Given the description of an element on the screen output the (x, y) to click on. 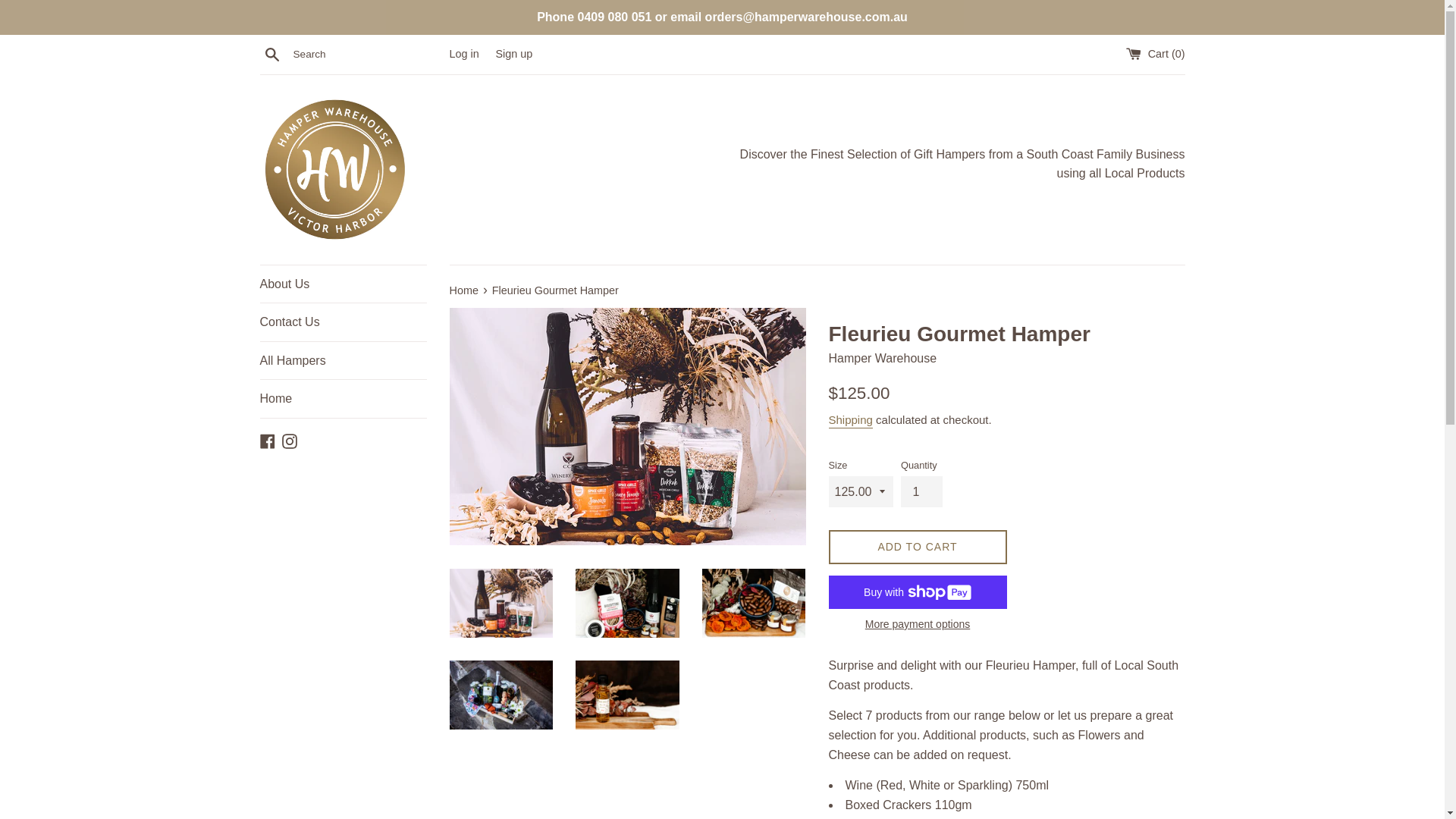
ADD TO CART Element type: text (917, 547)
Cart (0) Element type: text (1155, 53)
Shipping Element type: text (850, 420)
Search Element type: text (271, 53)
Home Element type: text (342, 398)
About Us Element type: text (342, 284)
Home Element type: text (464, 290)
Contact Us Element type: text (342, 322)
More payment options Element type: text (917, 624)
Facebook Element type: text (266, 439)
Instagram Element type: text (289, 439)
Sign up Element type: text (513, 53)
Phone 0409 080 051 or email orders@hamperwarehouse.com.au Element type: text (722, 17)
Log in Element type: text (463, 53)
All Hampers Element type: text (342, 360)
